Given the description of an element on the screen output the (x, y) to click on. 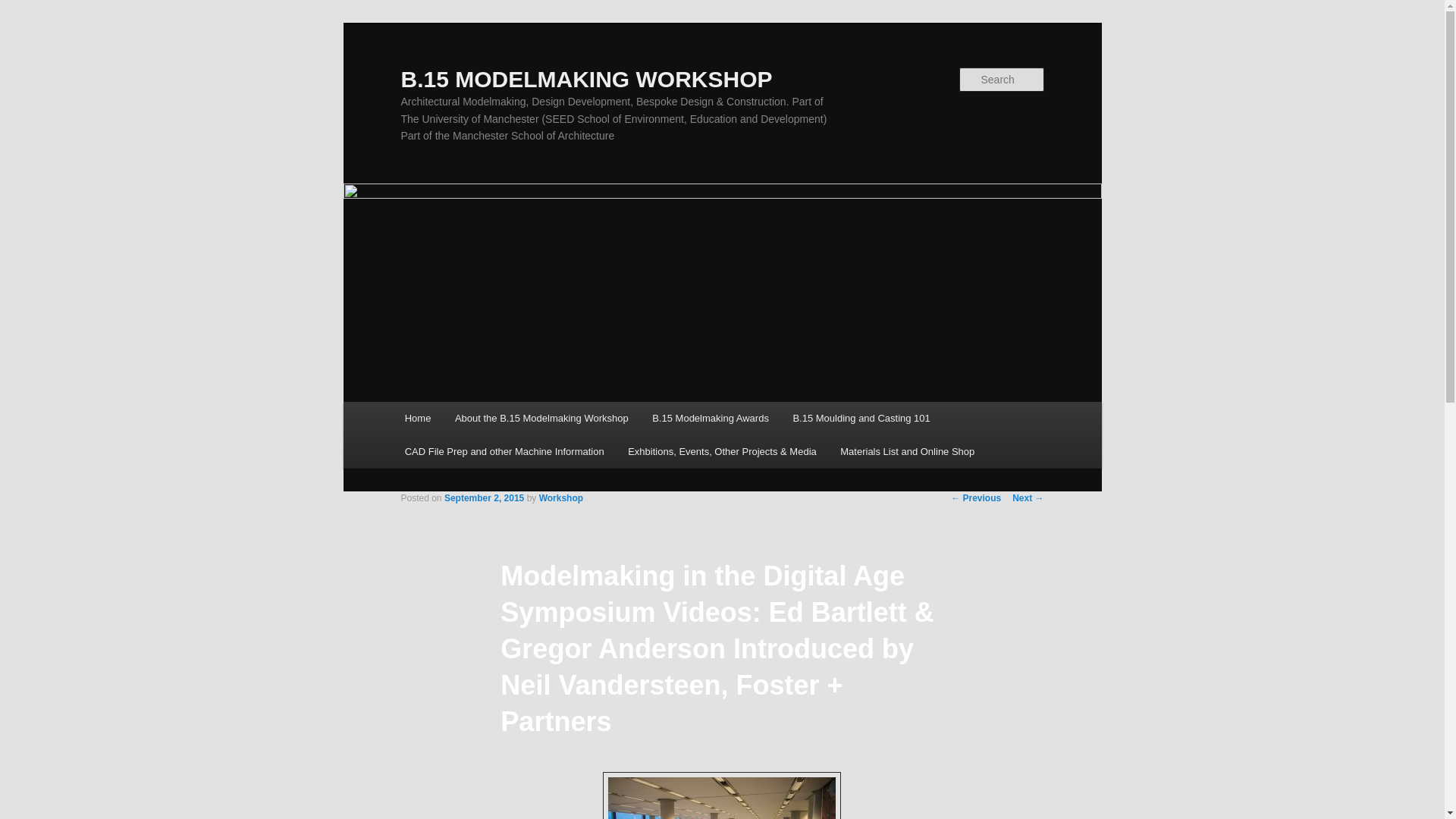
B.15 MODELMAKING WORKSHOP (585, 78)
B.15 Modelmaking Awards (710, 418)
CAD File Prep and other Machine Information (504, 450)
Search (24, 8)
Home (417, 418)
Materials List and Online Shop (907, 450)
September 2, 2015 (484, 498)
Workshop (560, 498)
About the B.15 Modelmaking Workshop (541, 418)
